Given the description of an element on the screen output the (x, y) to click on. 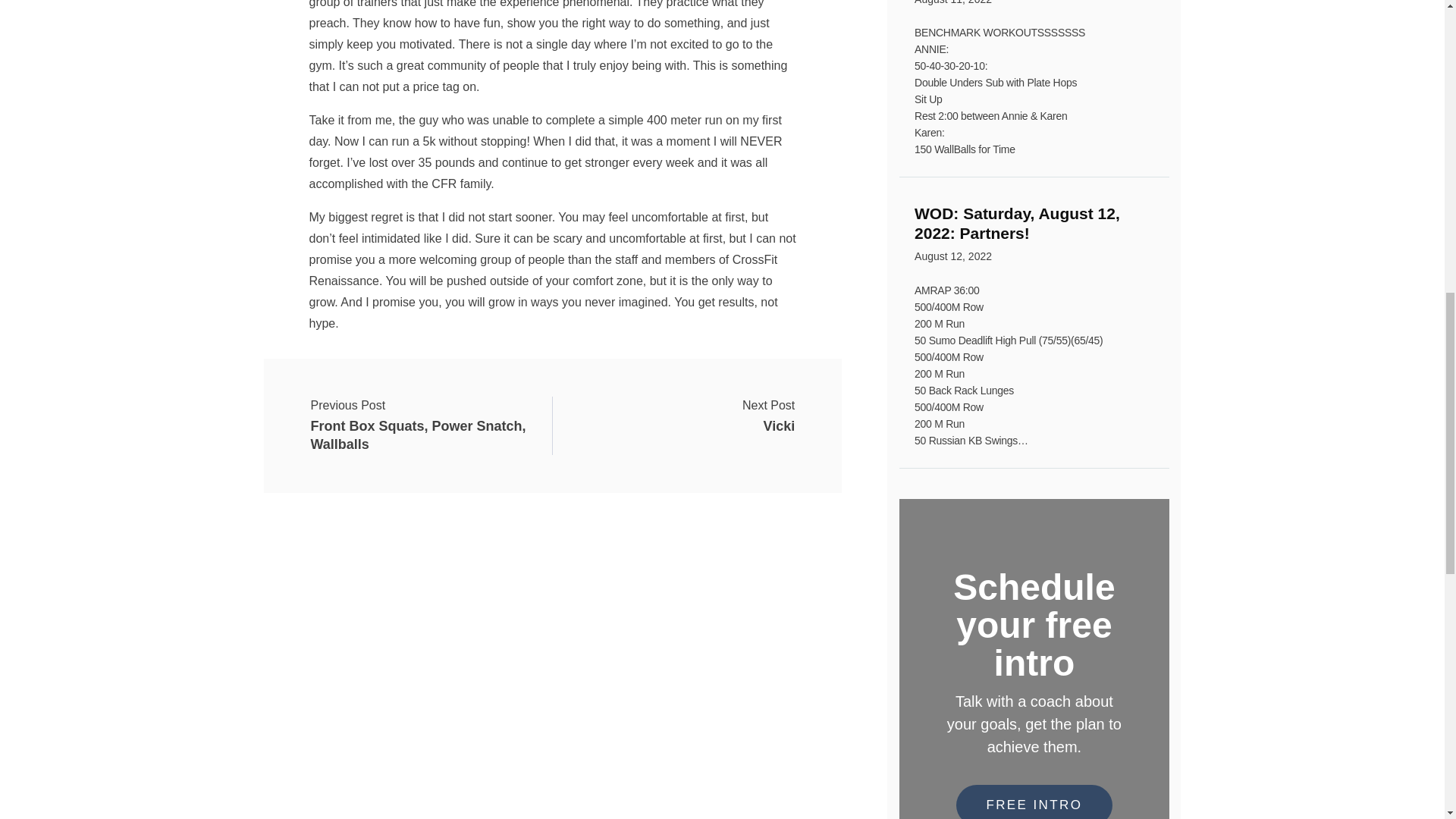
Vicki (768, 416)
FREE INTRO (1034, 801)
Front Box Squats, Power Snatch, Wallballs (1034, 236)
